Given the description of an element on the screen output the (x, y) to click on. 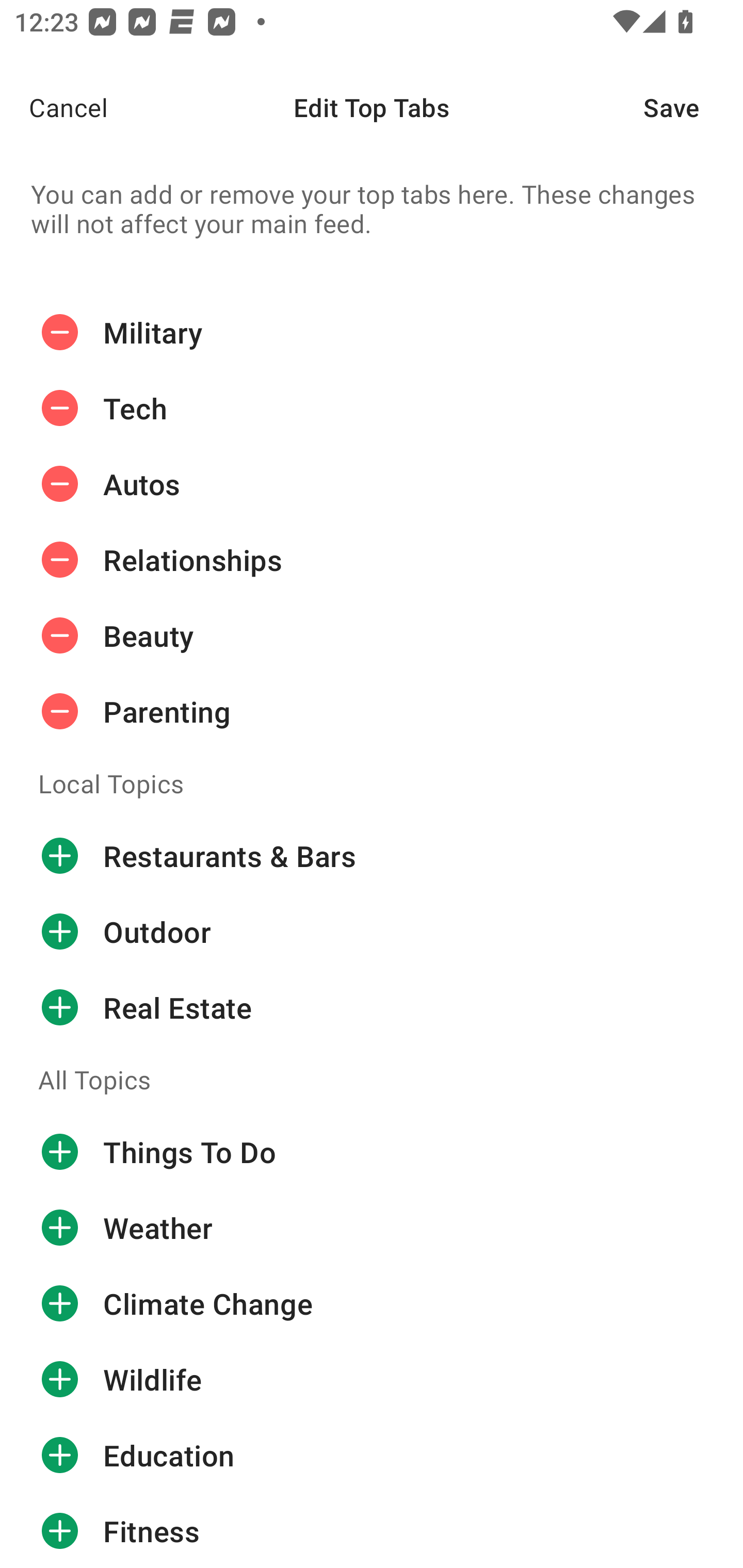
Cancel (53, 106)
Save (693, 106)
Military (371, 332)
Tech (371, 408)
Autos (371, 484)
Relationships (371, 559)
Beauty (371, 635)
Parenting (371, 711)
Restaurants & Bars (371, 855)
Outdoor (371, 931)
Real Estate (371, 1007)
Things To Do (371, 1152)
Weather (371, 1227)
Climate Change (371, 1303)
Wildlife (371, 1379)
Education (371, 1454)
Fitness (371, 1530)
